Given the description of an element on the screen output the (x, y) to click on. 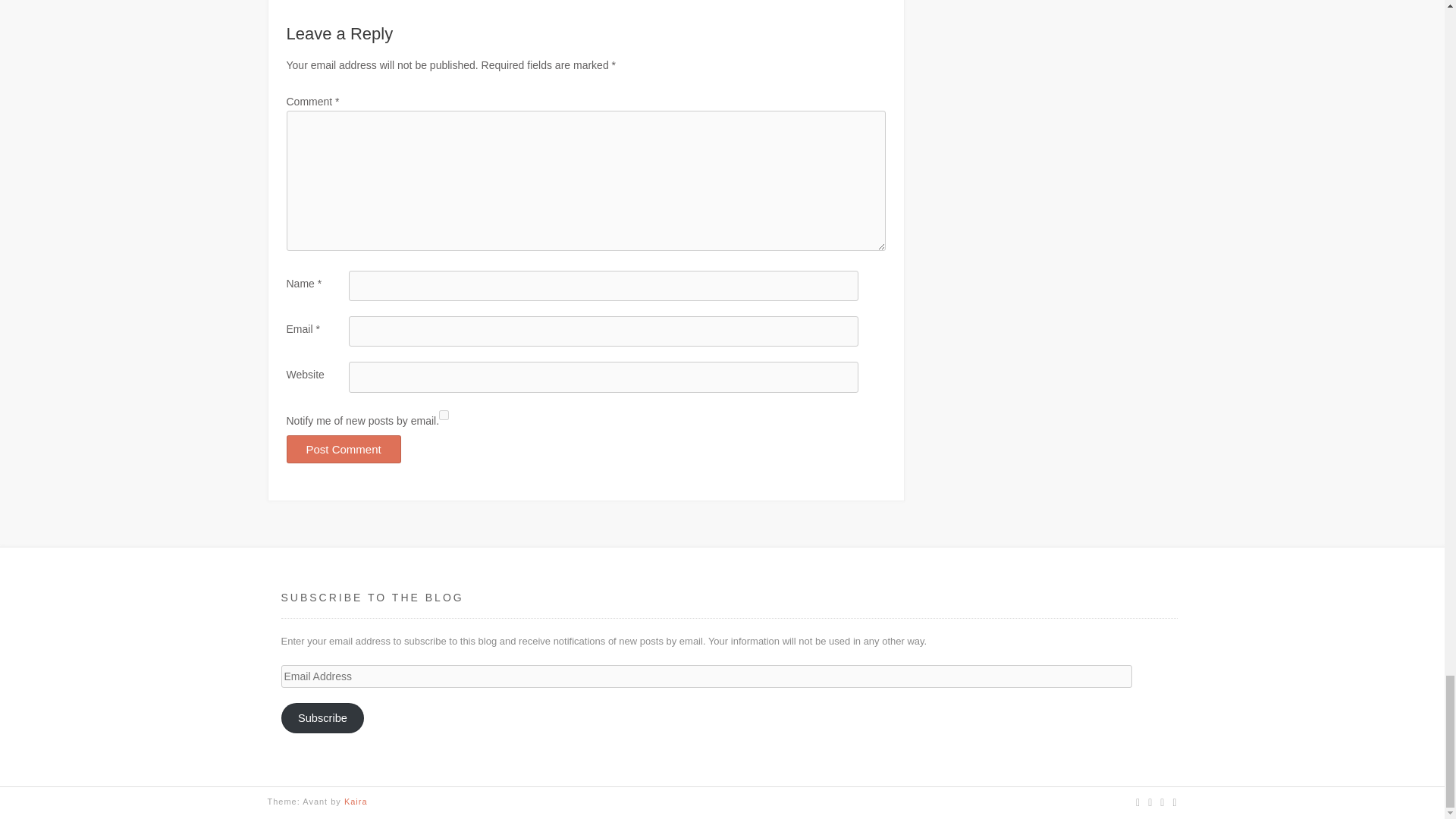
subscribe (443, 415)
Post Comment (343, 448)
